Given the description of an element on the screen output the (x, y) to click on. 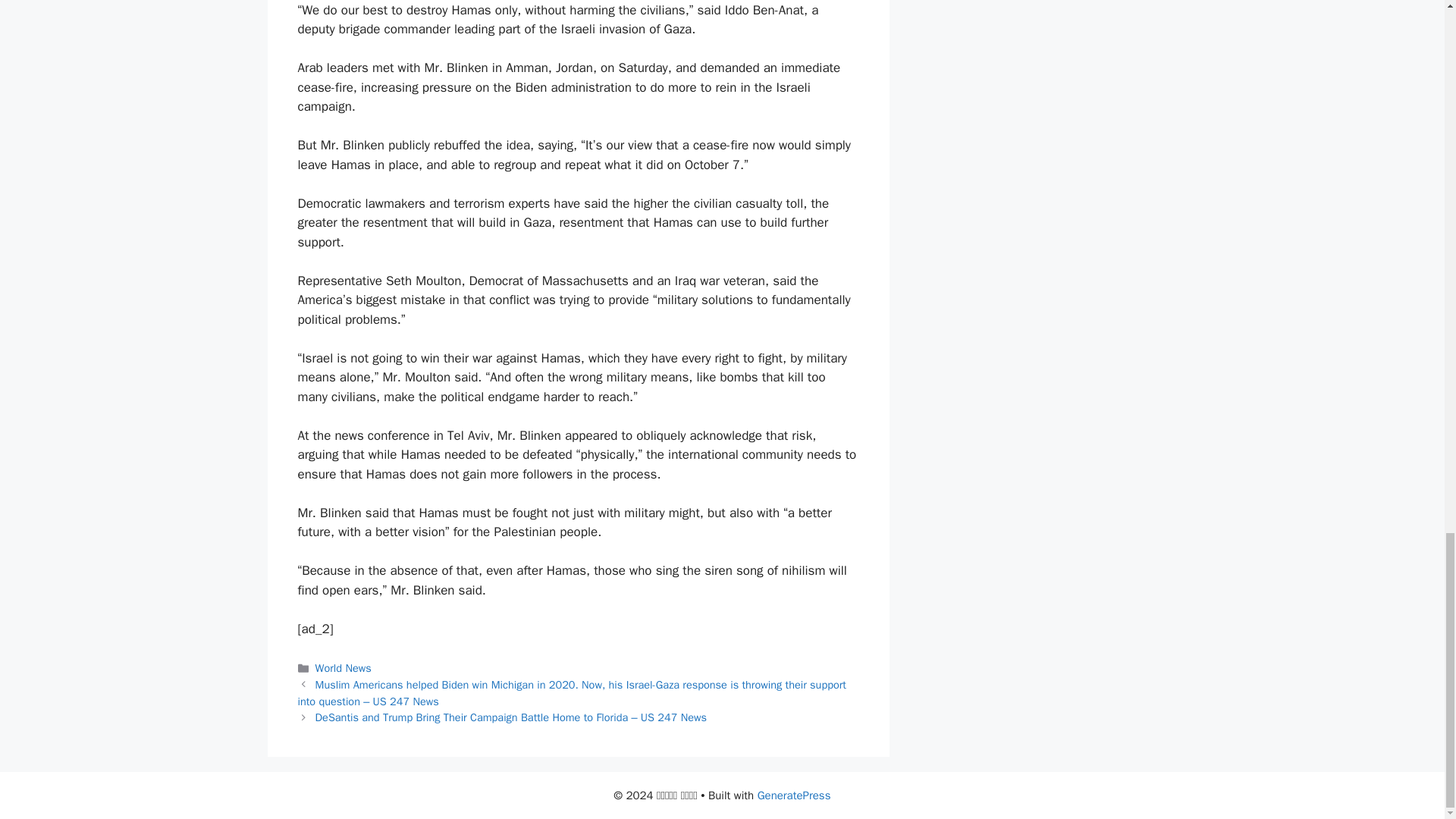
World News (343, 667)
GeneratePress (794, 795)
